Given the description of an element on the screen output the (x, y) to click on. 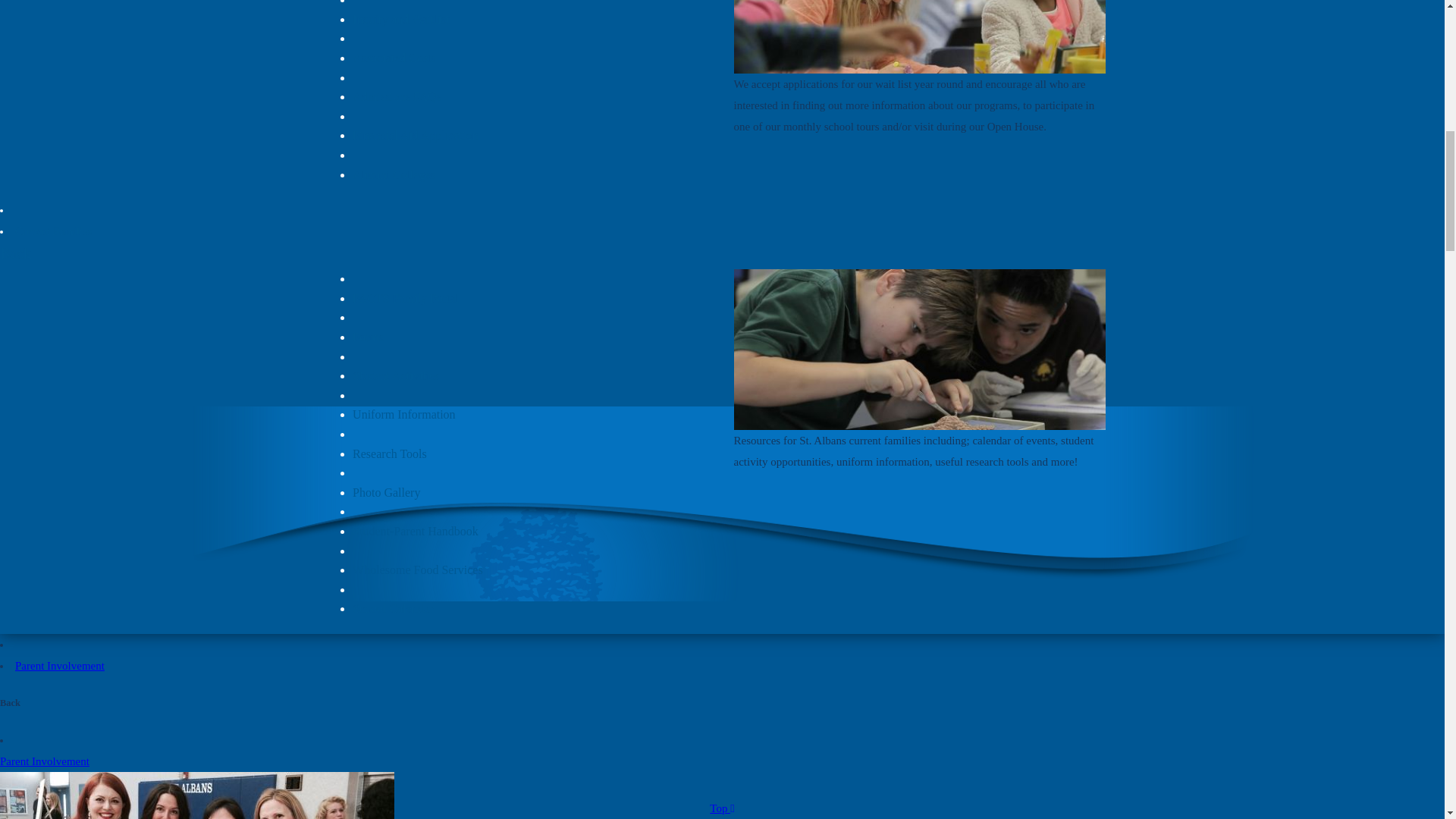
Associated Costs (393, 57)
Inquiry and Waitlist (400, 19)
Admissions FAQs (396, 96)
Financial Aid Application (414, 134)
Alumni Colleges (393, 174)
